Given the description of an element on the screen output the (x, y) to click on. 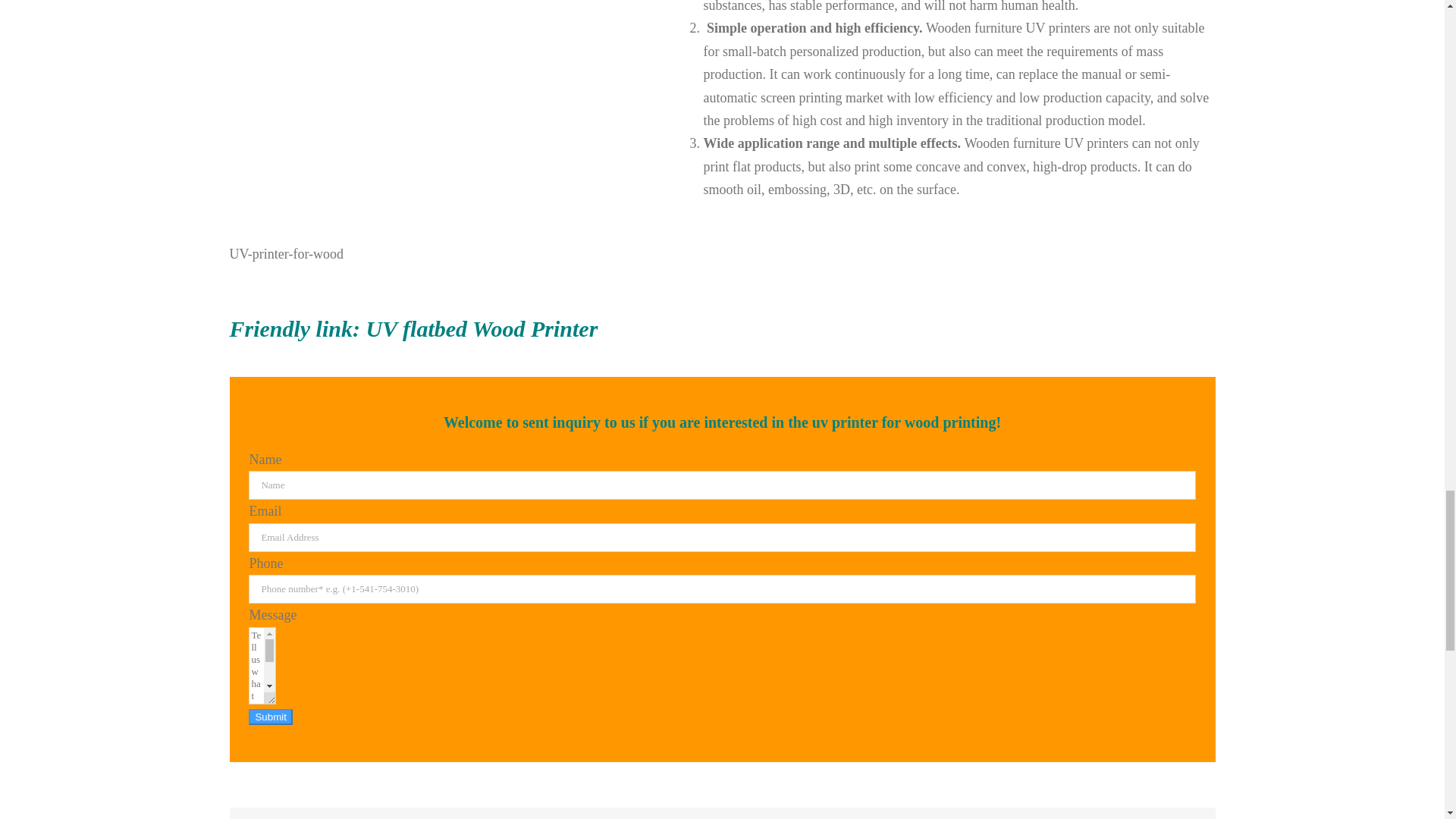
Friendly link: UV flatbed Wood Printer (721, 336)
